Given the description of an element on the screen output the (x, y) to click on. 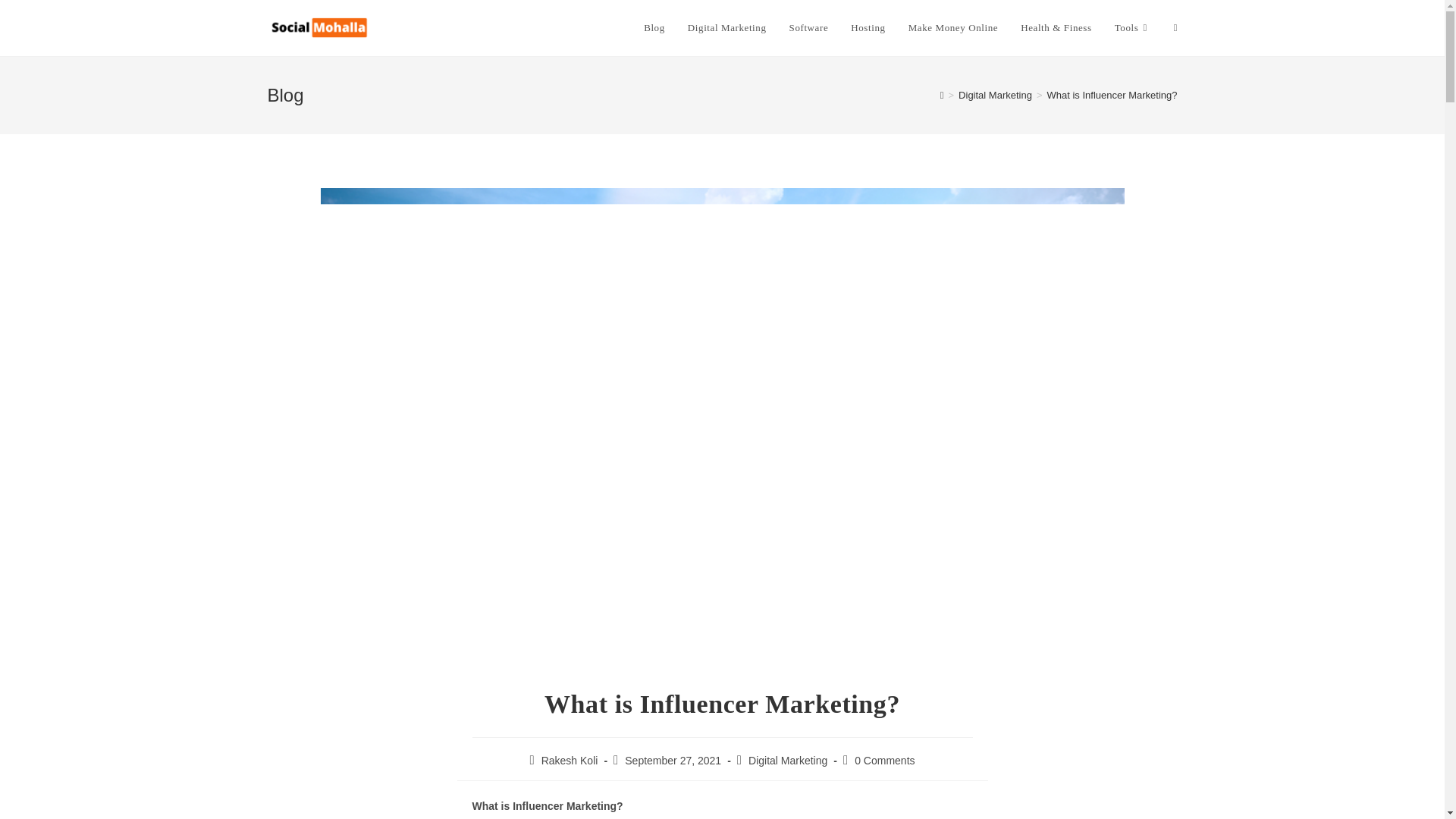
What is Influencer Marketing? (1111, 94)
Digital Marketing (787, 760)
Tools (1132, 28)
Software (808, 28)
Digital Marketing (995, 94)
Posts by Rakesh Koli (569, 760)
Blog (654, 28)
Hosting (868, 28)
Rakesh Koli (569, 760)
Digital Marketing (727, 28)
0 Comments (884, 760)
Make Money Online (953, 28)
